Given the description of an element on the screen output the (x, y) to click on. 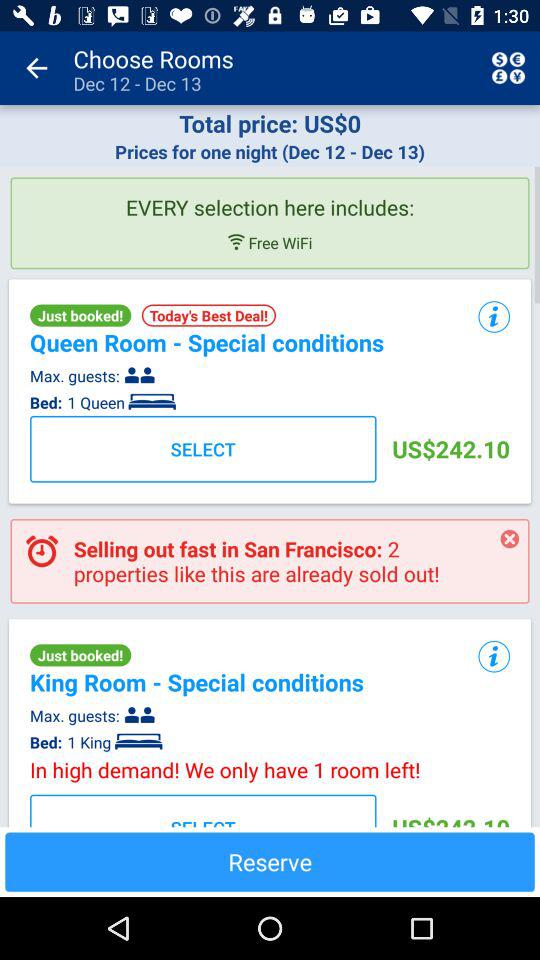
select app to the right of bed: app (114, 742)
